Given the description of an element on the screen output the (x, y) to click on. 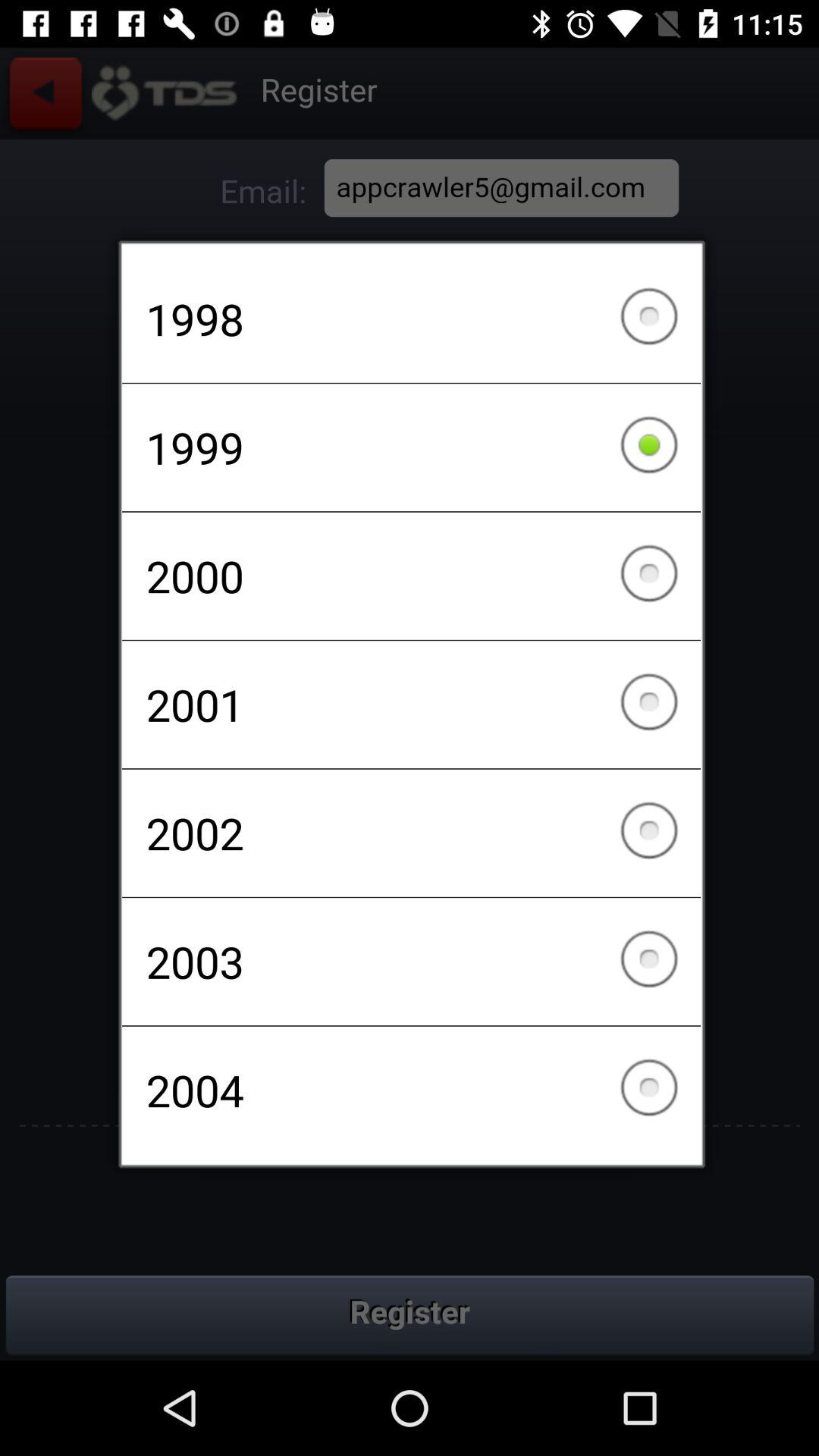
flip until 2003 item (411, 961)
